Given the description of an element on the screen output the (x, y) to click on. 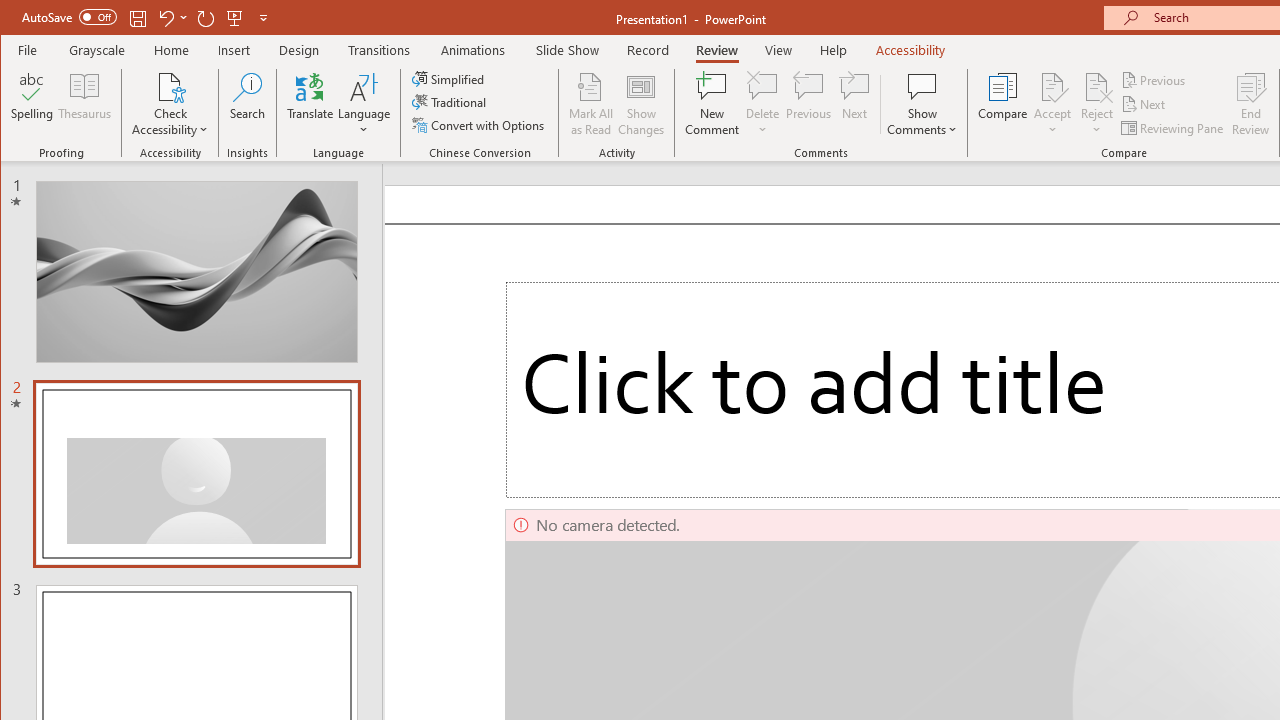
New Comment (712, 104)
Next (1144, 103)
Mark All as Read (591, 104)
Compare (1002, 104)
